Given the description of an element on the screen output the (x, y) to click on. 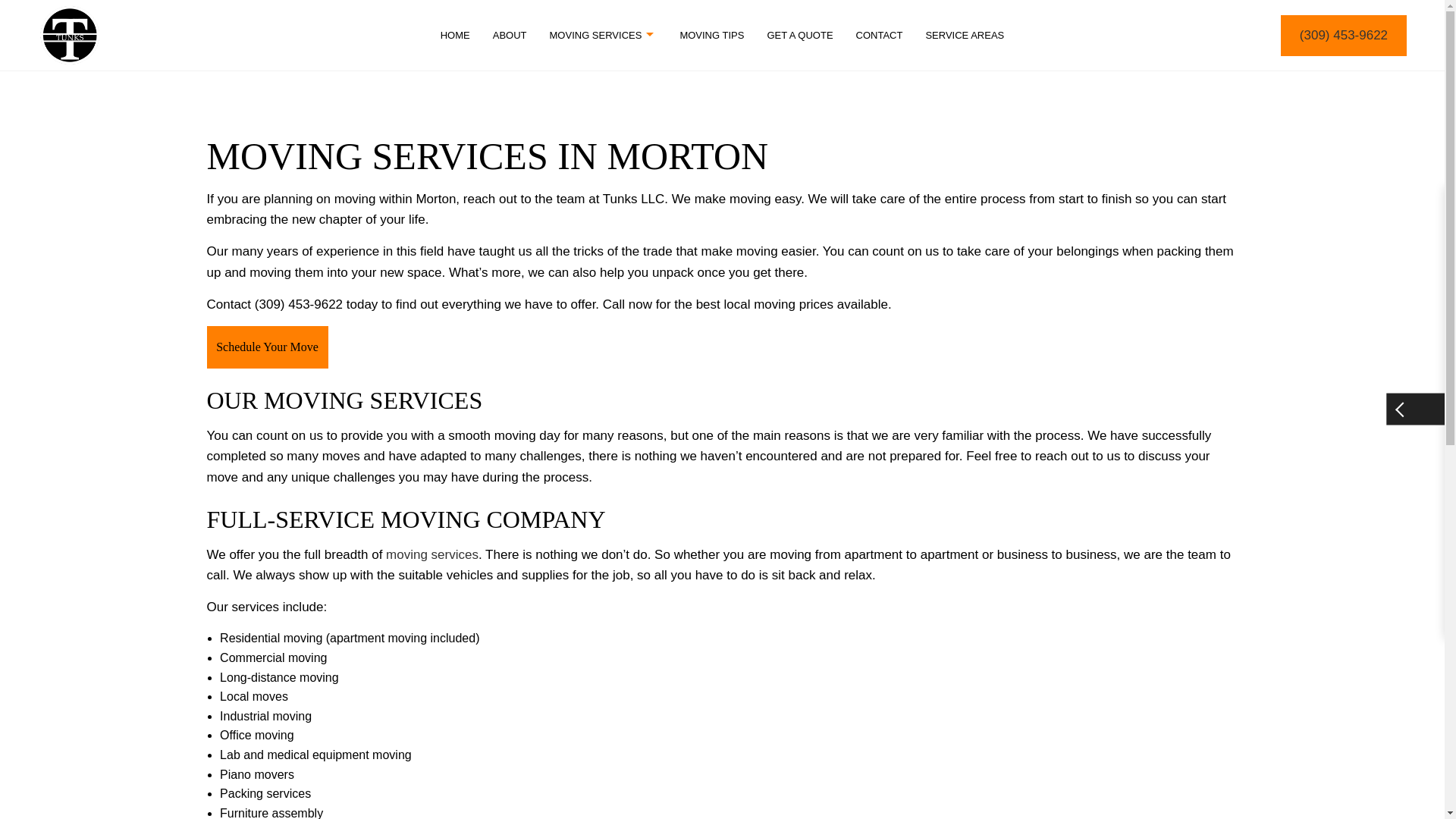
COMMERCIAL MOVERS (678, 108)
Learn more about Moving Services (432, 554)
MOVING COMPANY (482, 240)
APARTMENT MOVERS (482, 108)
MOVERS (678, 213)
HOME STAGING (482, 161)
Tunks LLC (70, 33)
MOVING SERVICES (678, 240)
LOCAL MOVERS (482, 187)
INDUSTRIAL MOVERS (678, 161)
